Given the description of an element on the screen output the (x, y) to click on. 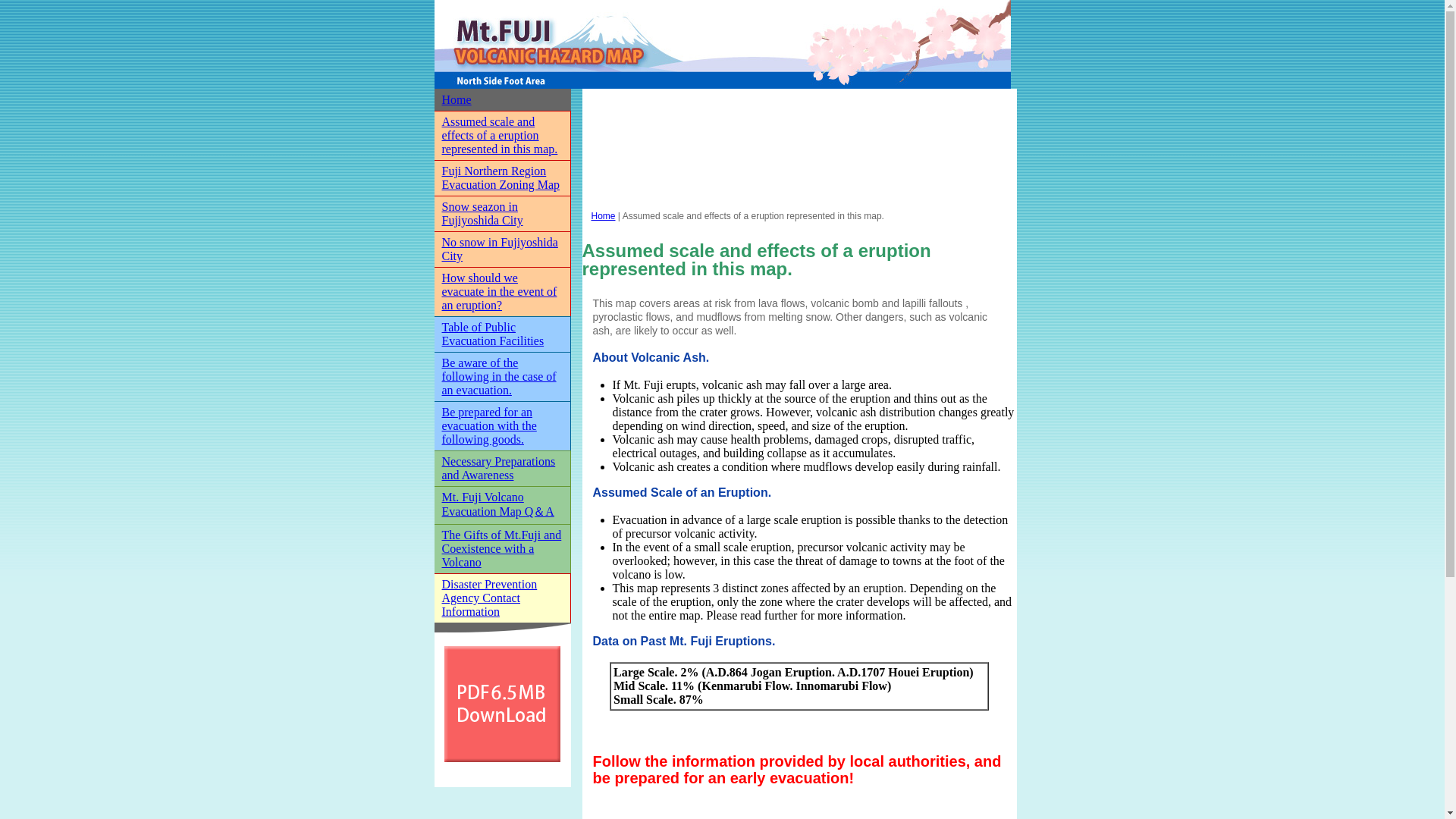
Table of Public Evacuation Facilities (492, 334)
No snow in Fujiyoshida City (499, 248)
Fuji Northern Region Evacuation Zoning Map (500, 177)
Home (455, 99)
Be prepared for an evacuation with the following goods. (488, 425)
Home (603, 215)
Necessary Preparations and Awareness (497, 468)
Snow seazon in Fujiyoshida City (481, 212)
Be aware of the following in the case of an evacuation. (498, 376)
